Given the description of an element on the screen output the (x, y) to click on. 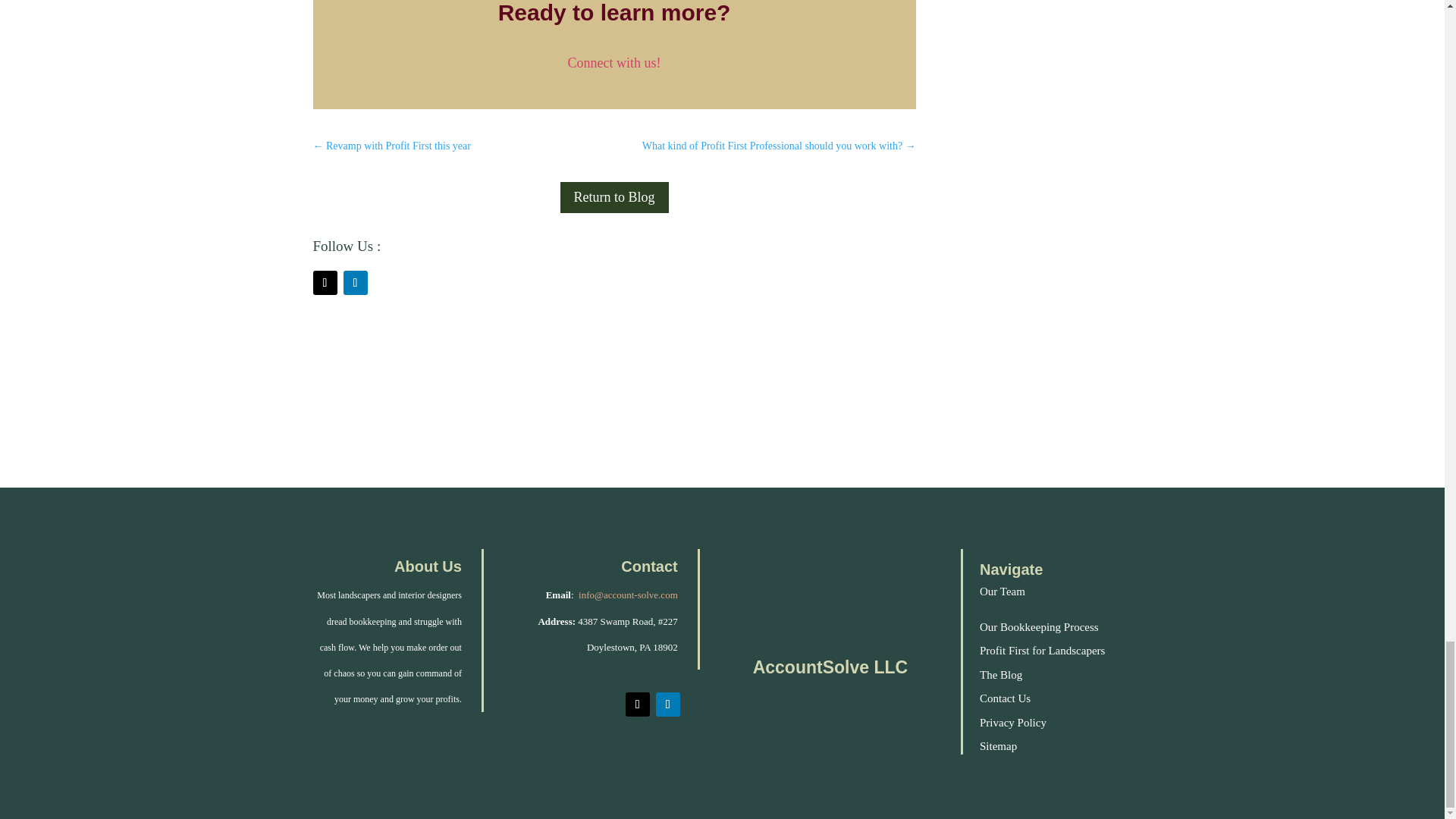
Follow on LinkedIn (667, 704)
Follow on Instagram (324, 282)
Connect with us! (614, 62)
Return to Blog (614, 196)
Follow on LinkedIn (354, 282)
Follow on Instagram (637, 704)
